Given the description of an element on the screen output the (x, y) to click on. 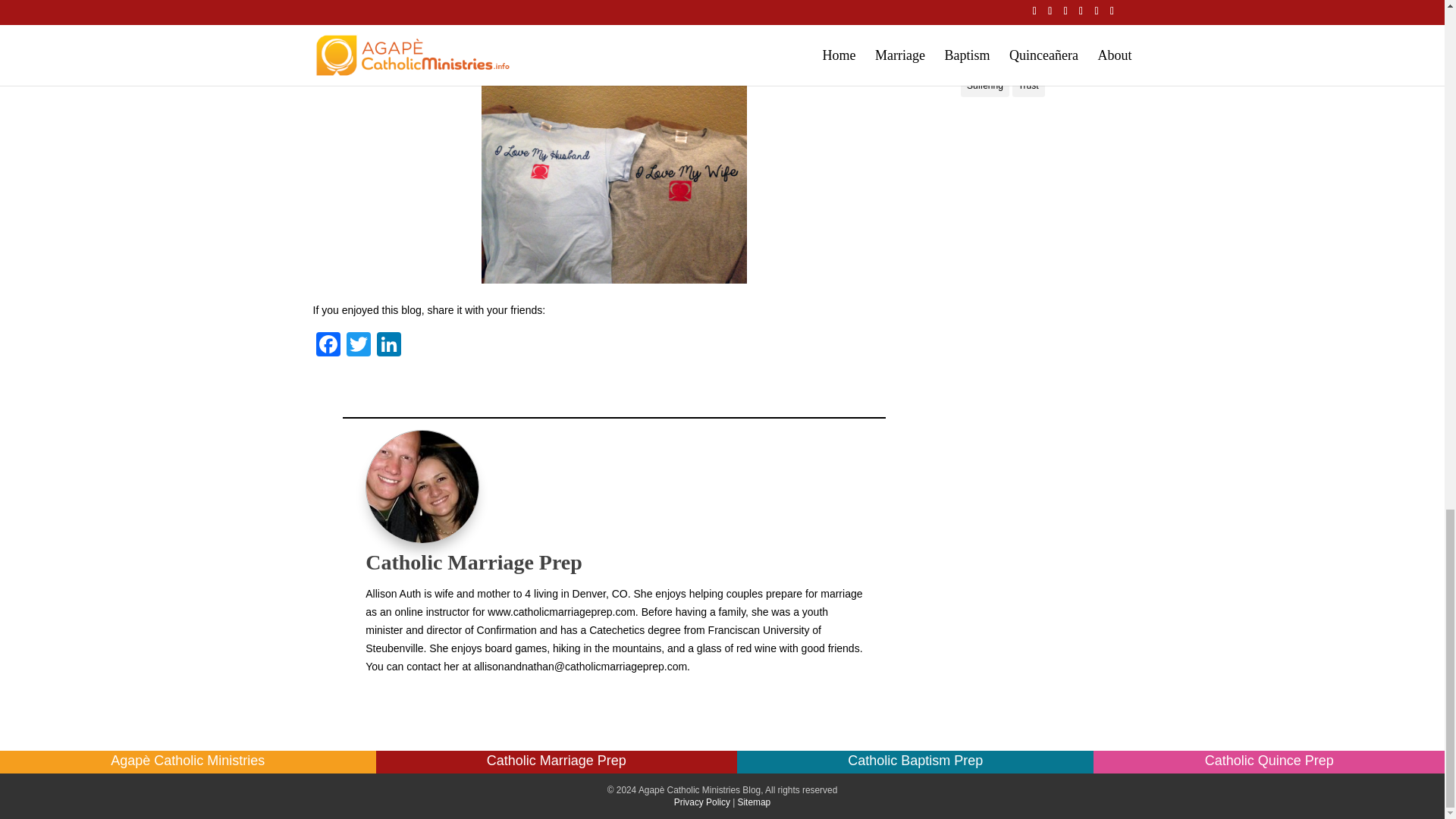
LinkedIn (387, 346)
LinkedIn (387, 346)
Privacy Policy (702, 801)
Sitemap (754, 801)
Twitter (357, 346)
Twitter (357, 346)
Facebook (327, 346)
Facebook (327, 346)
